Given the description of an element on the screen output the (x, y) to click on. 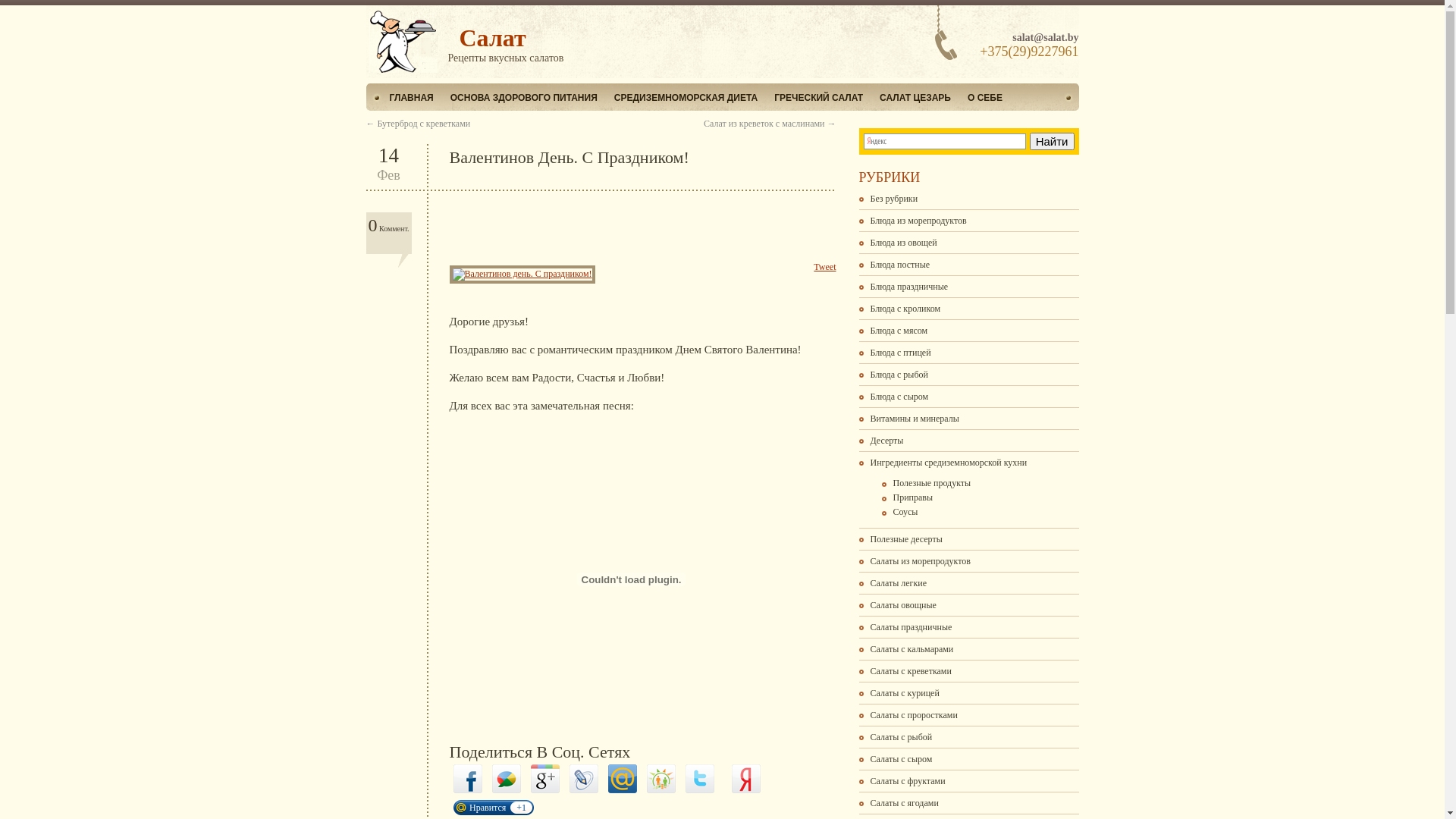
0 Element type: text (371, 225)
Advertisement Element type: hover (625, 227)
Tweet Element type: text (824, 266)
